Given the description of an element on the screen output the (x, y) to click on. 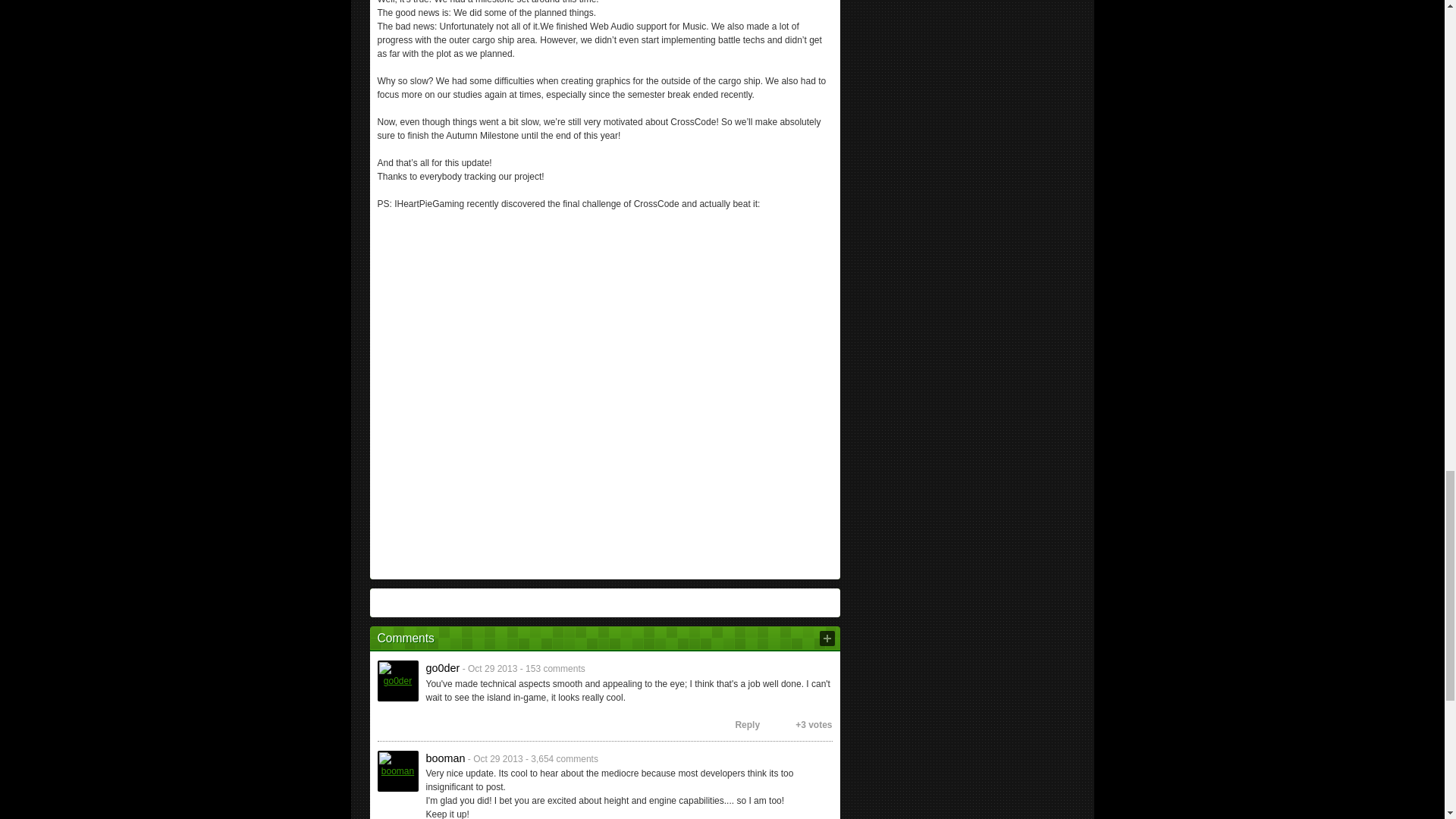
go0der (398, 680)
Reply (740, 725)
Post comment (826, 638)
